Given the description of an element on the screen output the (x, y) to click on. 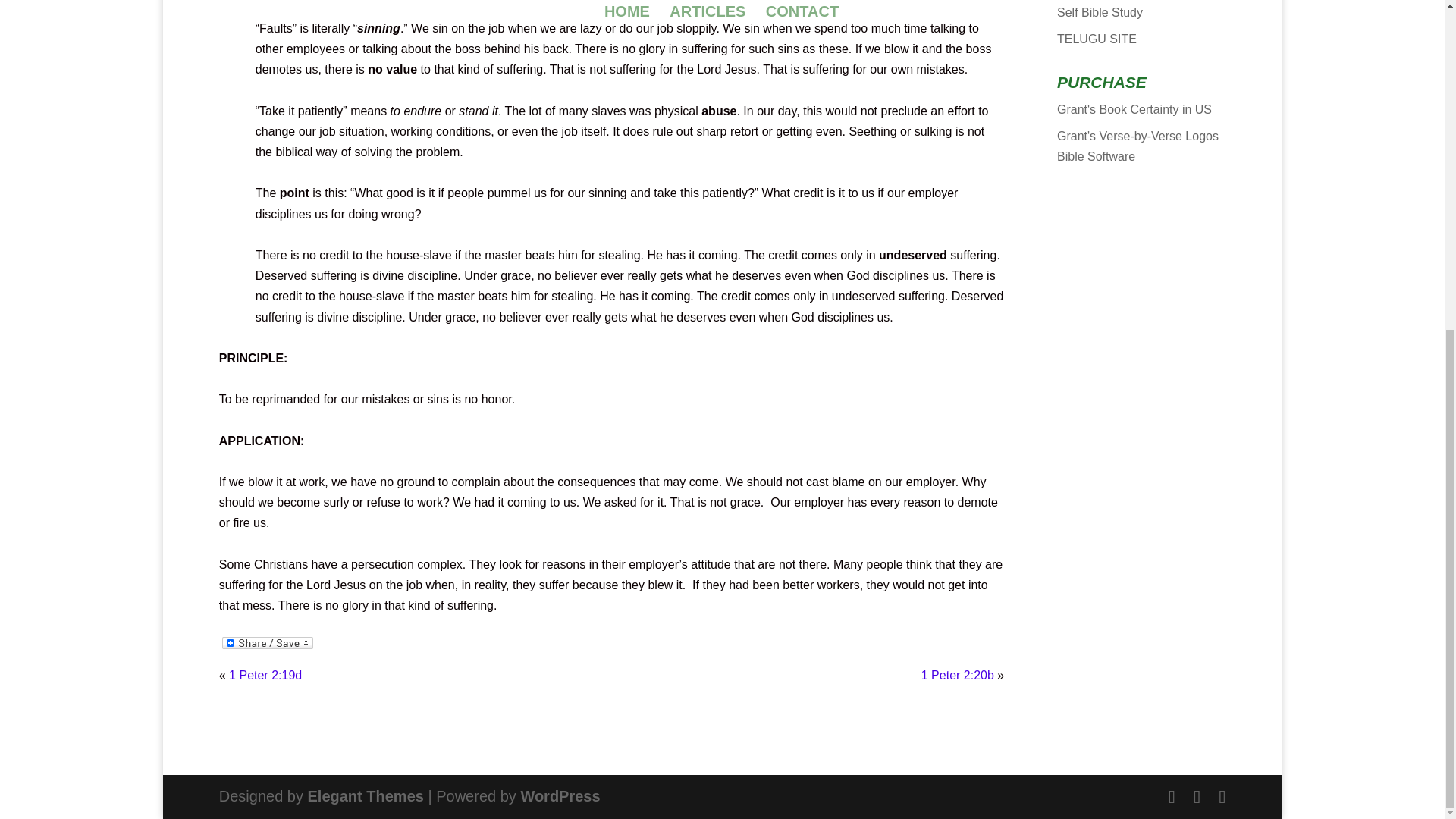
Grant's Book Certainty in US (1134, 109)
1 Peter 2:19d (264, 675)
TELUGU SITE (1097, 38)
WordPress (559, 795)
Premium WordPress Themes (365, 795)
Grant's Verse-by-Verse Logos Bible Software (1137, 145)
1 Peter 2:20b (957, 675)
Elegant Themes (365, 795)
Self Bible Study (1099, 11)
Telugu verse-by-verse commentary (1097, 38)
